Given the description of an element on the screen output the (x, y) to click on. 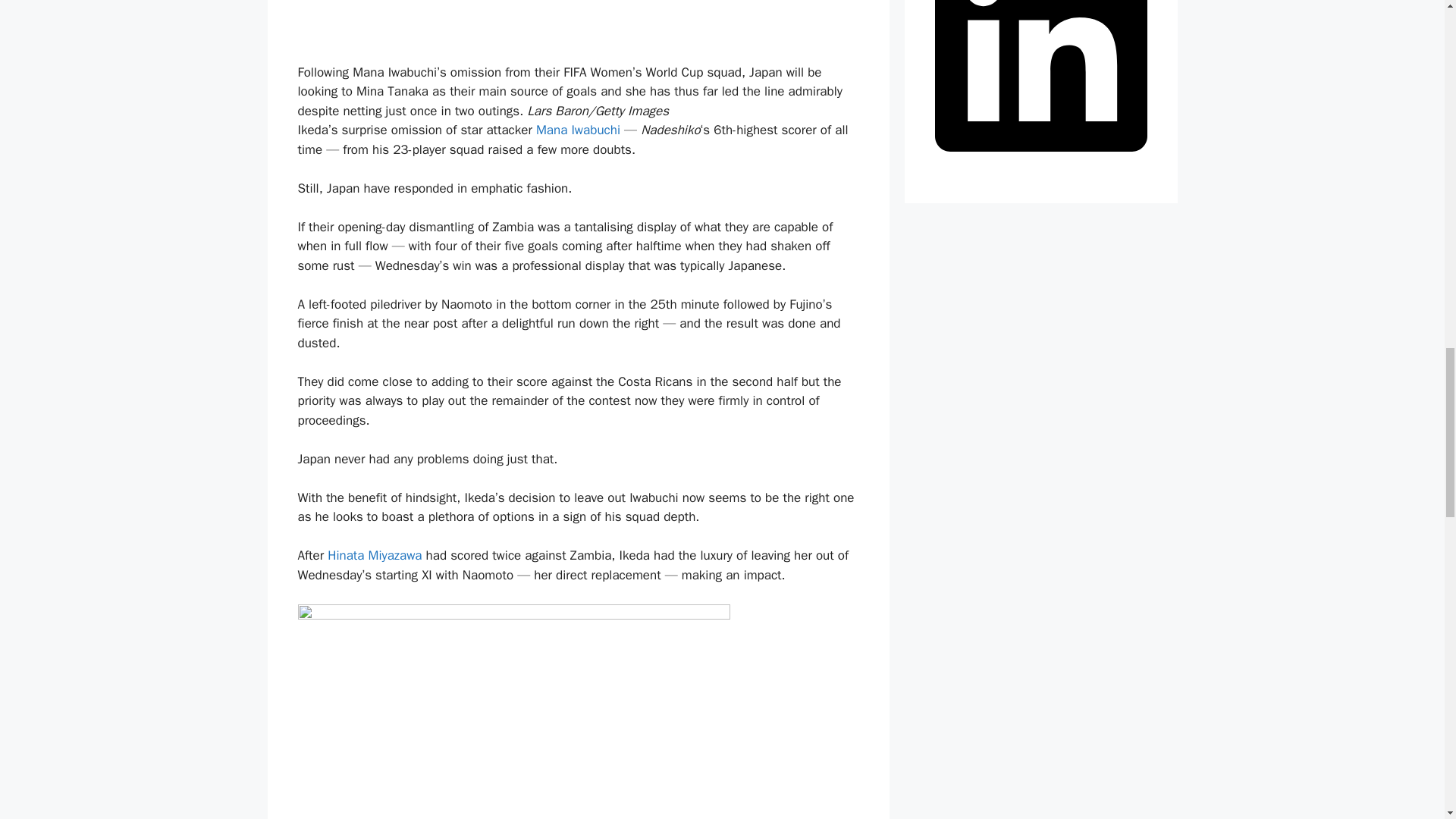
Mana Iwabuchi (577, 130)
Hinata Miyazawa (374, 555)
